Given the description of an element on the screen output the (x, y) to click on. 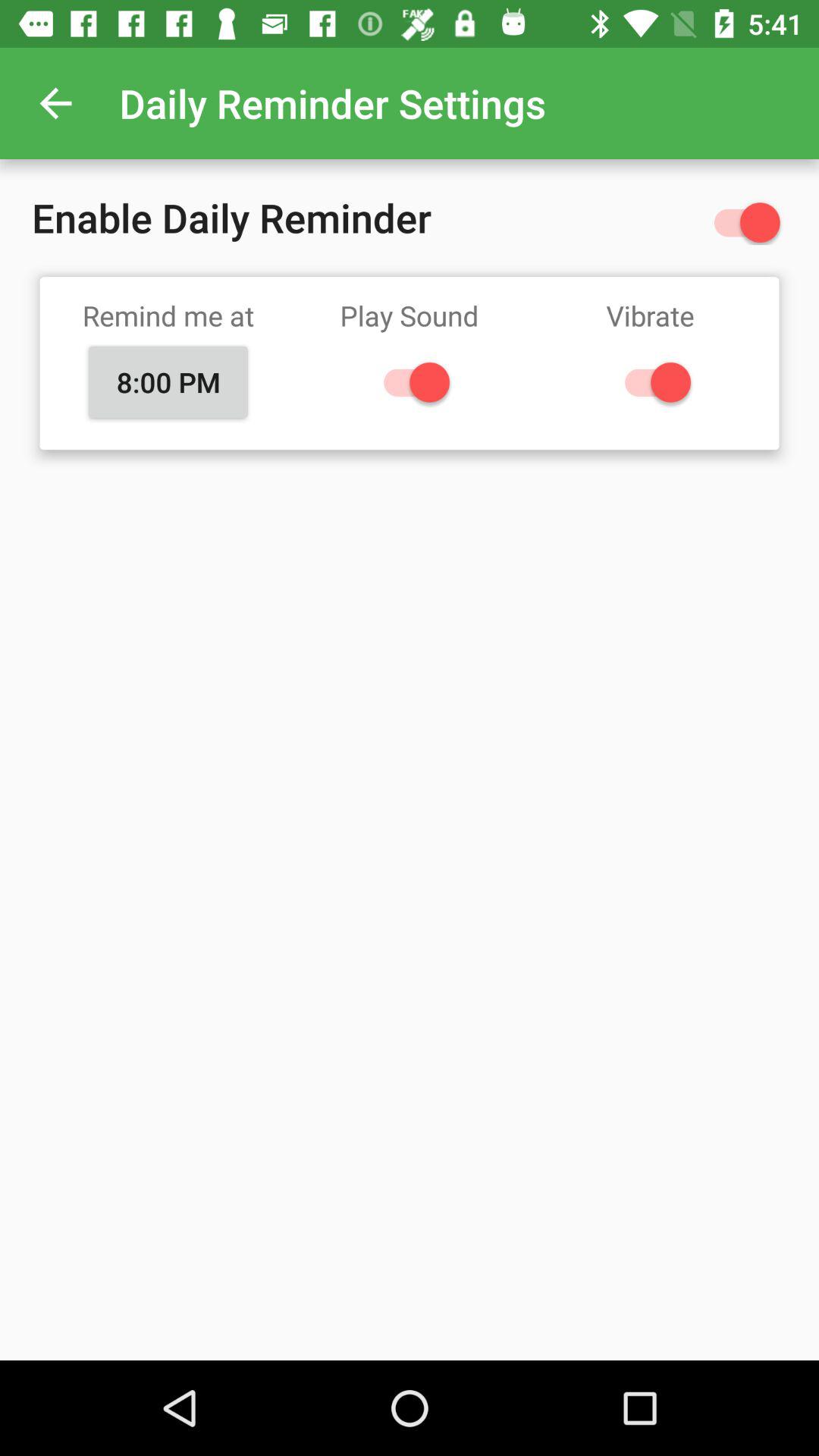
swipe to the 8:00 pm icon (167, 381)
